Given the description of an element on the screen output the (x, y) to click on. 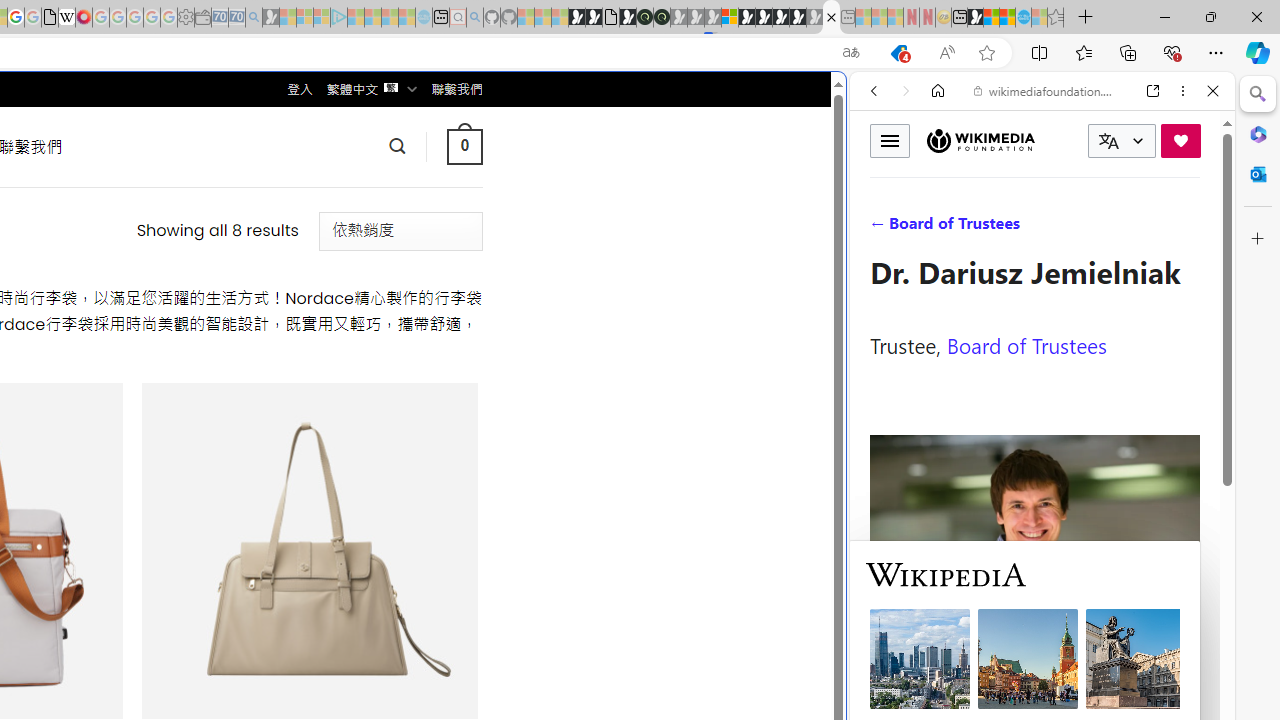
Board of Trustees (1026, 344)
